Given the description of an element on the screen output the (x, y) to click on. 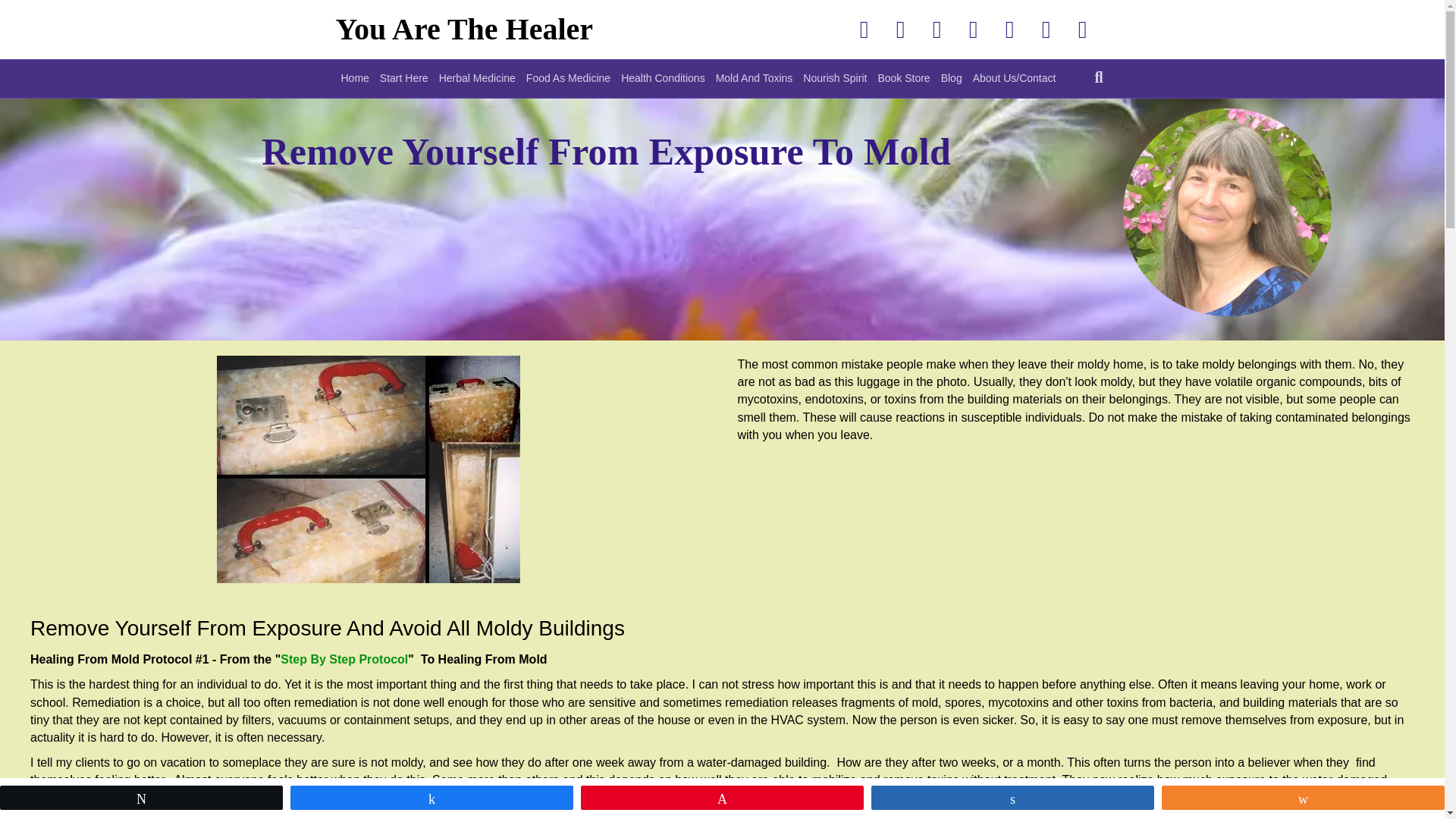
Facebook (863, 29)
Pinterest (936, 29)
Twitter (900, 29)
Rss (1082, 29)
Food As Medicine (568, 78)
Home (354, 78)
Mold Growing On Suitcase (367, 469)
Start Here (403, 78)
Herbal Medicine (477, 78)
You Are The Healer (516, 29)
Health Conditions (662, 78)
Youtube (973, 29)
Blogger (1045, 29)
Photo of Sharol Tilgner (1246, 226)
Instagram (1009, 29)
